Given the description of an element on the screen output the (x, y) to click on. 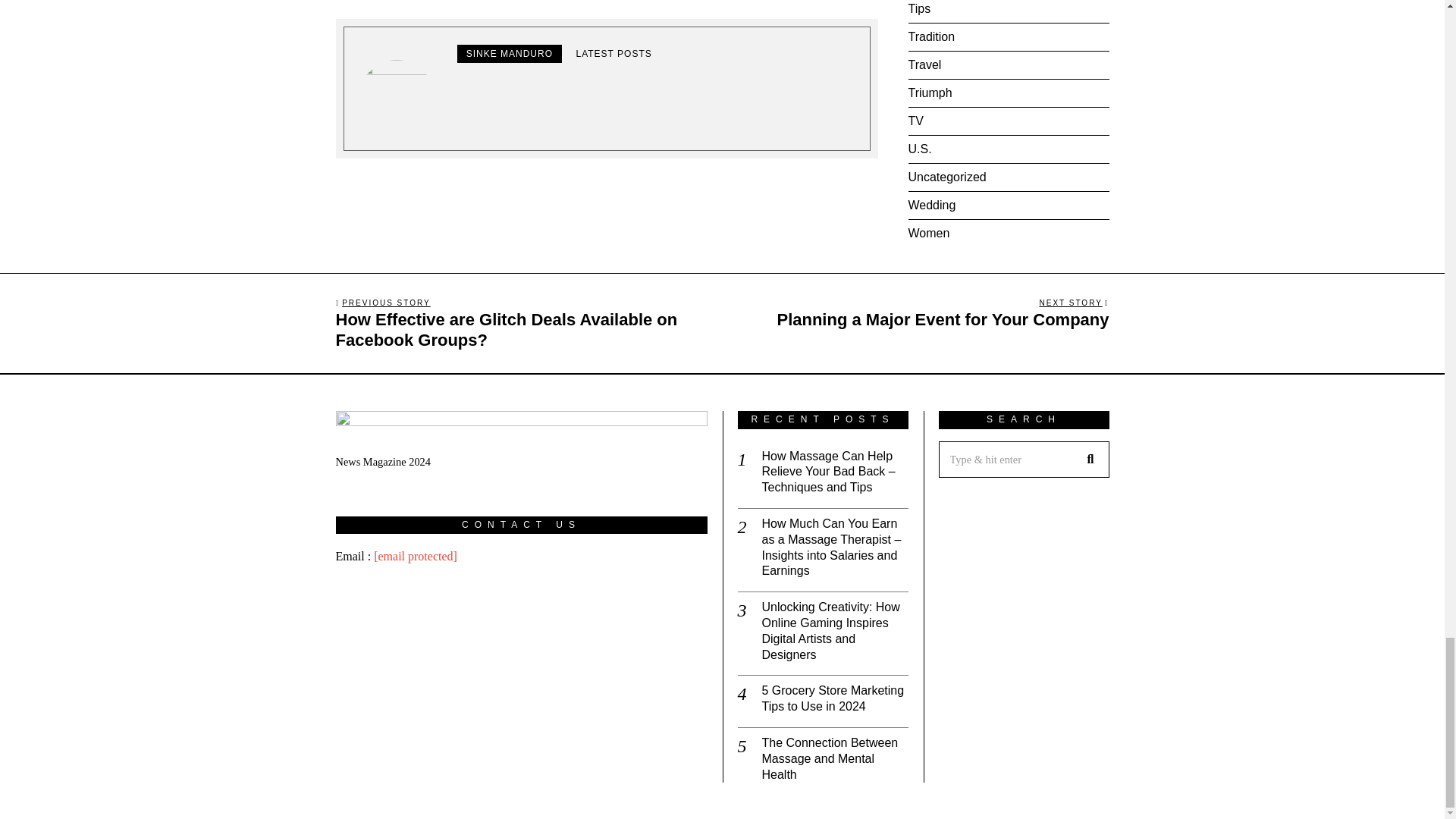
SINKE MANDURO (509, 54)
Go (1089, 459)
LATEST POSTS (613, 54)
